Given the description of an element on the screen output the (x, y) to click on. 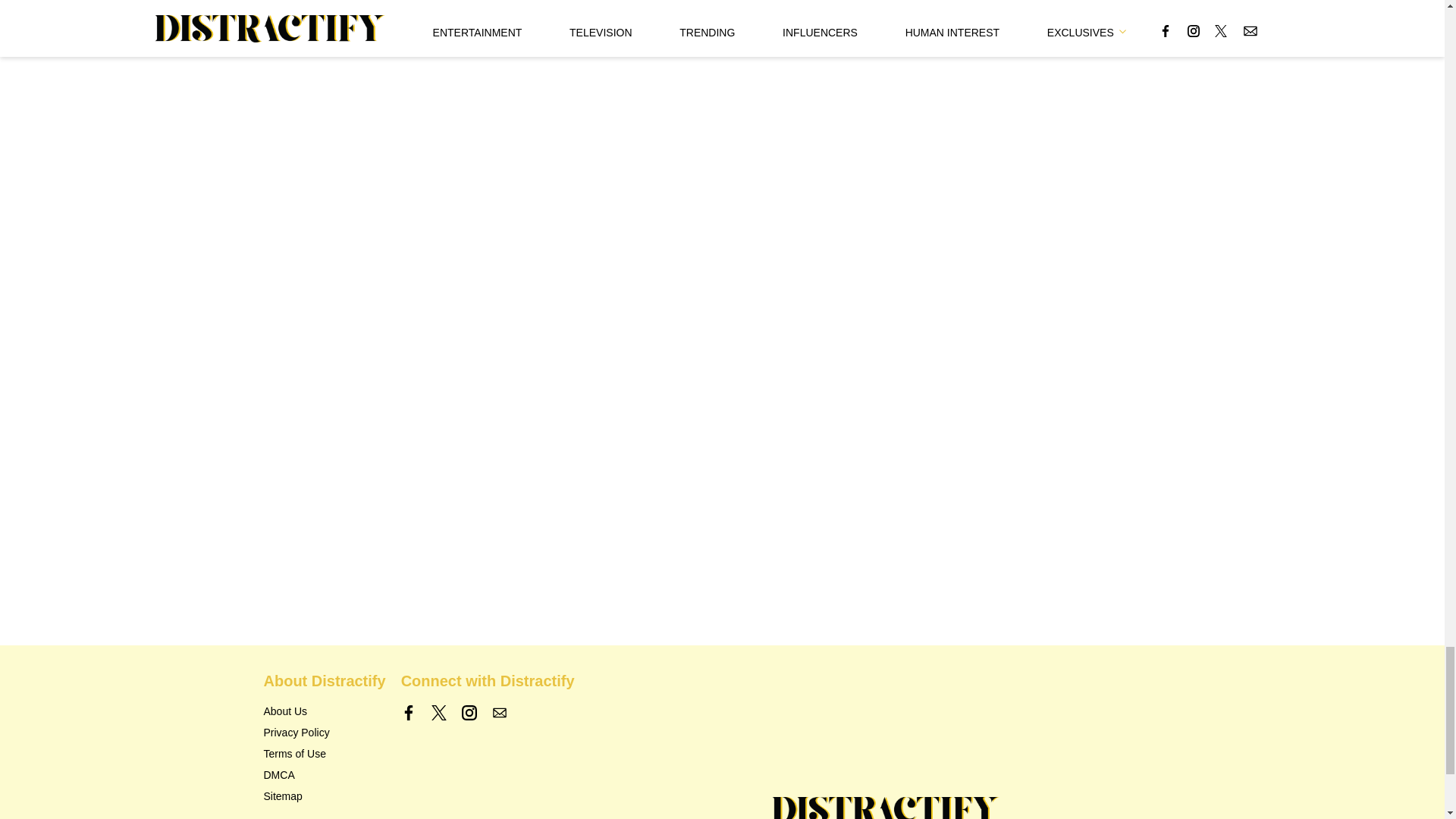
About Us (285, 711)
Contact us by Email (499, 712)
Terms of Use (294, 753)
DMCA (279, 775)
About Us (285, 711)
Terms of Use (294, 753)
Link to X (438, 712)
Link to Instagram (469, 712)
Link to Facebook (408, 712)
Sitemap (282, 796)
Privacy Policy (296, 732)
Privacy Policy (296, 732)
